Given the description of an element on the screen output the (x, y) to click on. 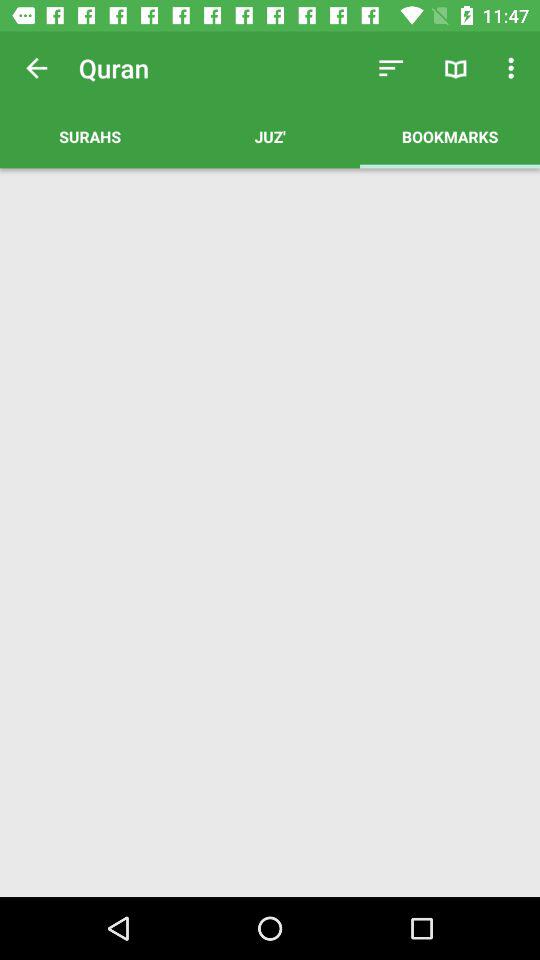
open app next to quran app (36, 68)
